Given the description of an element on the screen output the (x, y) to click on. 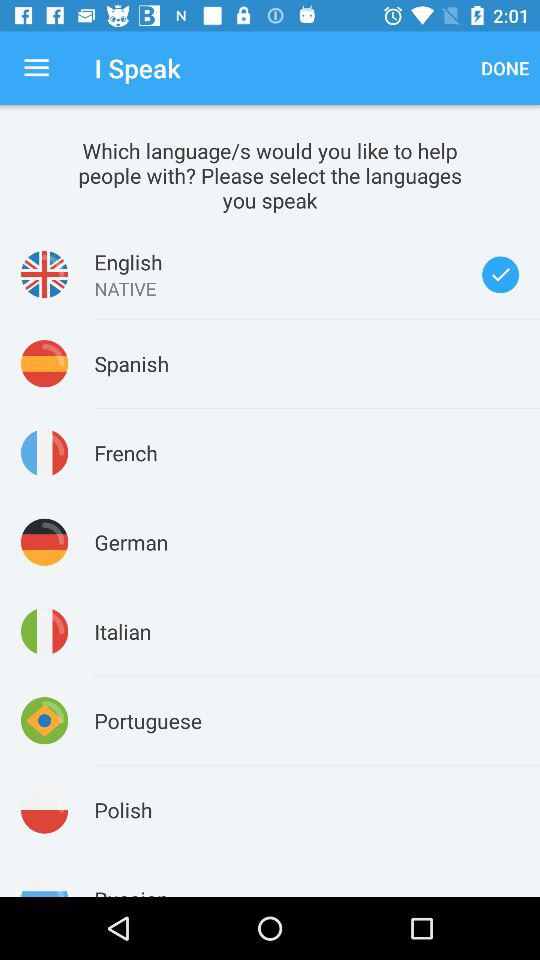
launch icon next to i speak (505, 67)
